Given the description of an element on the screen output the (x, y) to click on. 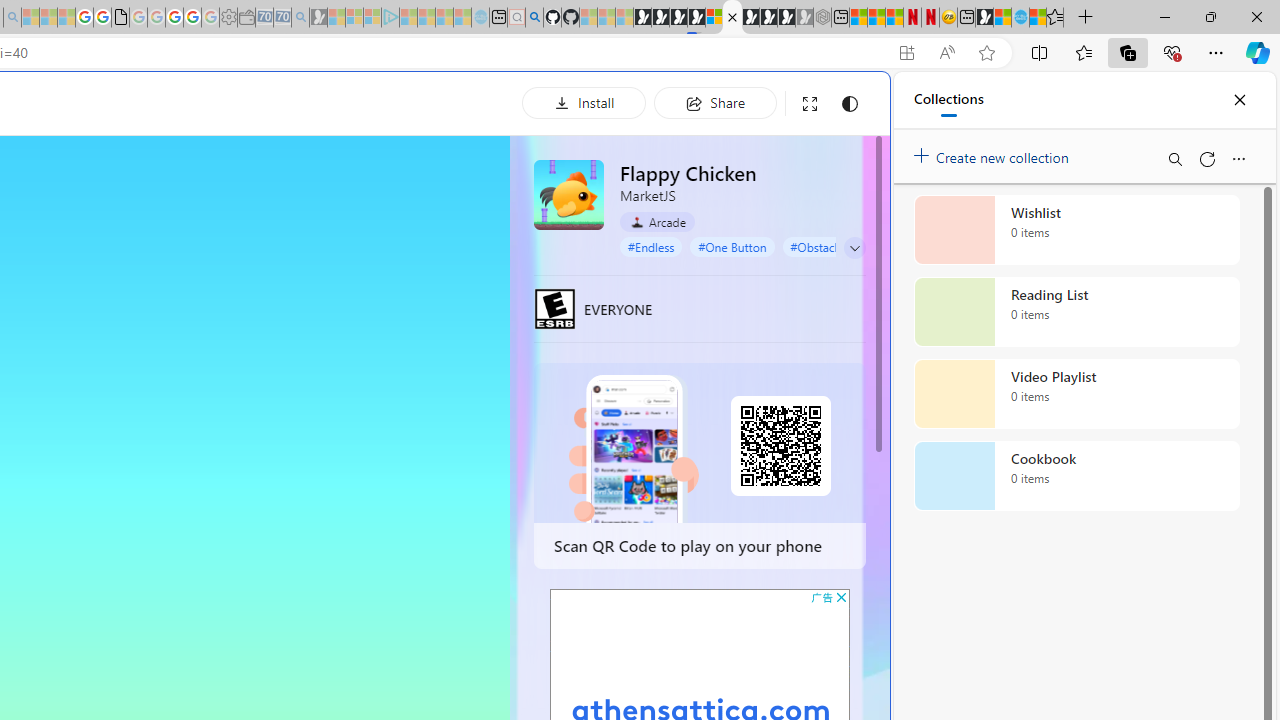
More options menu (1238, 158)
